Given the description of an element on the screen output the (x, y) to click on. 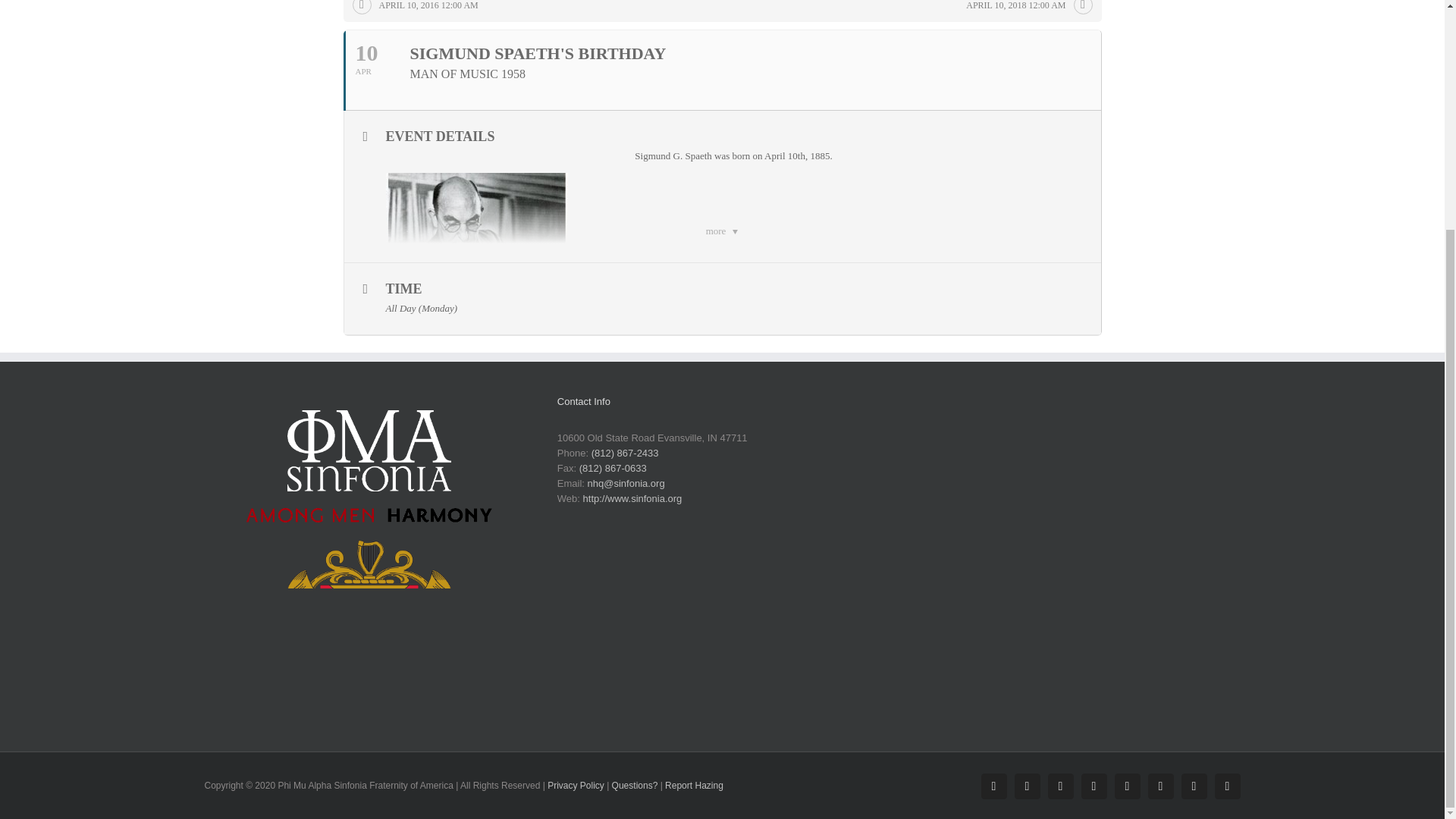
april 10, 2018 12:00 am (1024, 9)
april 10, 2016 12:00 am (418, 9)
Twitter (1061, 786)
LinkedIn (1127, 786)
Spotify (1160, 786)
Facebook (994, 786)
Instagram (1027, 786)
YouTube (1093, 786)
Rss (1193, 786)
